Given the description of an element on the screen output the (x, y) to click on. 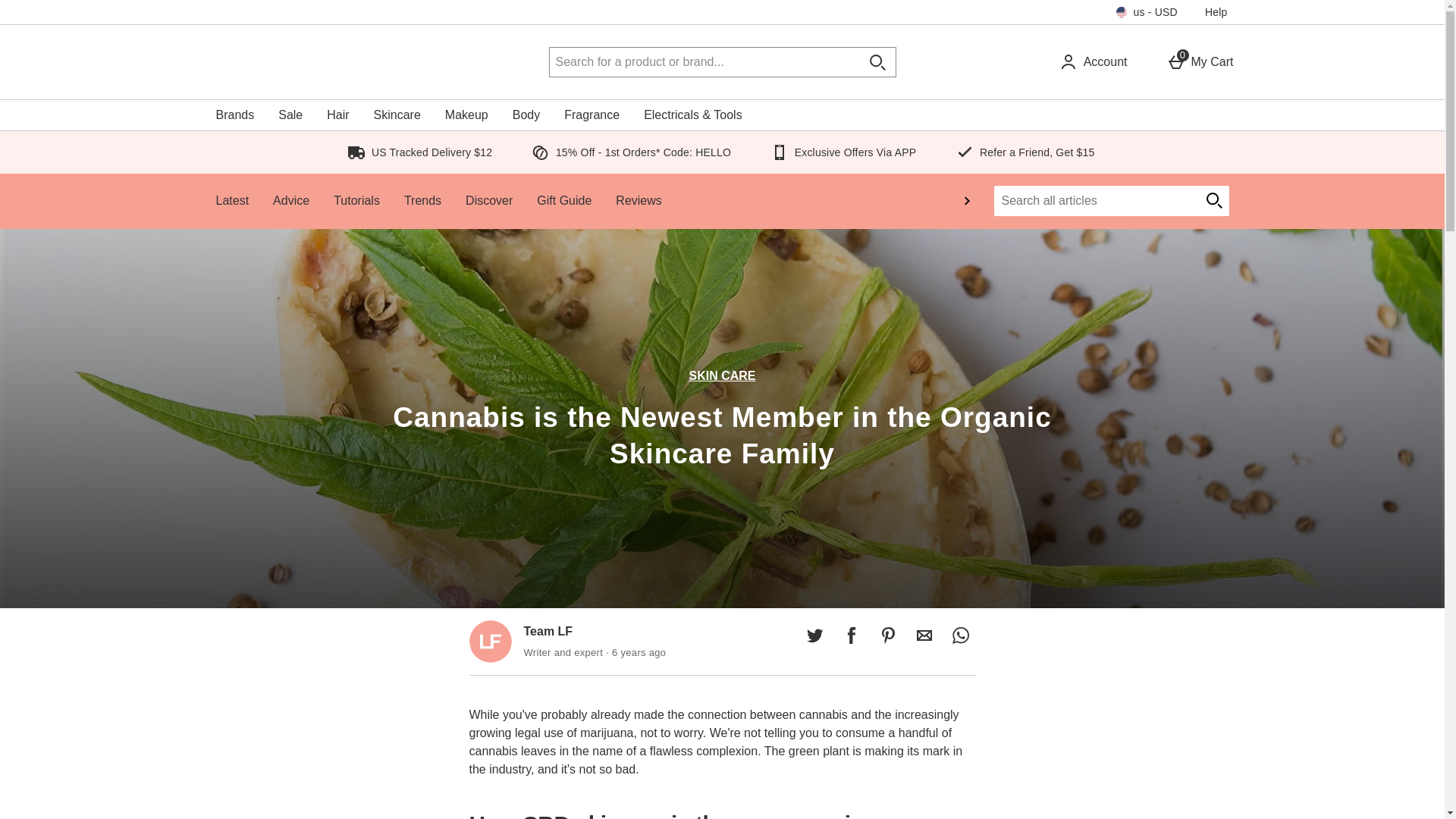
Account (1093, 62)
Brands (234, 114)
Skip to main content (55, 9)
Search for a product or brand... (703, 61)
Share this on Facebook (850, 634)
Team LF (489, 640)
start article search (1213, 200)
Share this by Email (1199, 62)
Search Articles (923, 634)
